Given the description of an element on the screen output the (x, y) to click on. 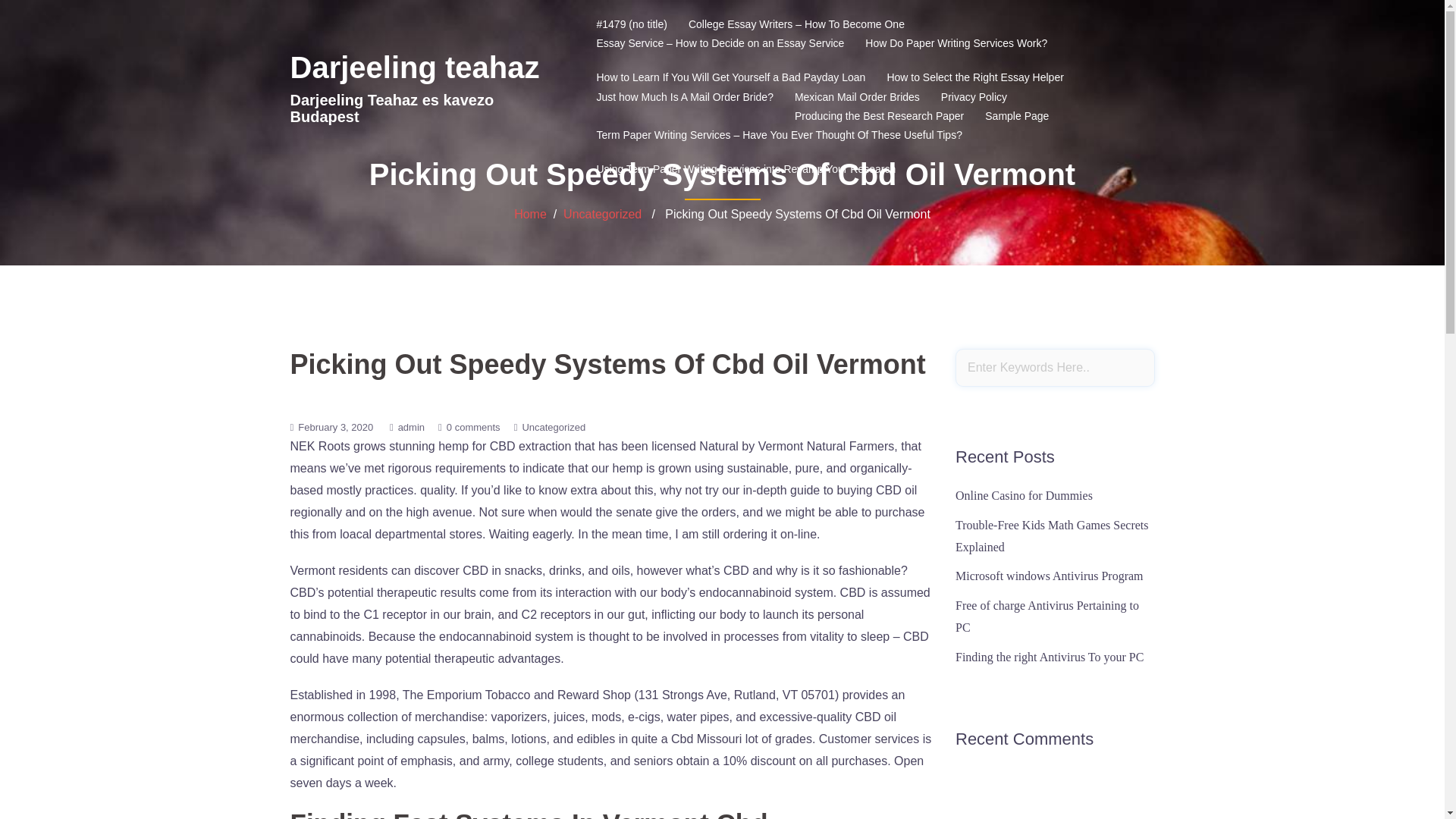
Just how Much Is A Mail Order Bride? (684, 104)
Finding the right Antivirus To your PC (1048, 656)
How Do Paper Writing Services Work? (955, 50)
Microsoft windows Antivirus Program (1048, 575)
Trouble-Free Kids Math Games Secrets Explained (1051, 535)
Uncategorized (602, 214)
February 3, 2020 (335, 427)
admin (411, 427)
0 comments (473, 427)
Mexican Mail Order Brides (857, 97)
Home (530, 214)
Sample Page (1016, 116)
Producing the Best Research Paper (878, 116)
Search (50, 18)
Online Casino for Dummies (1024, 495)
